Given the description of an element on the screen output the (x, y) to click on. 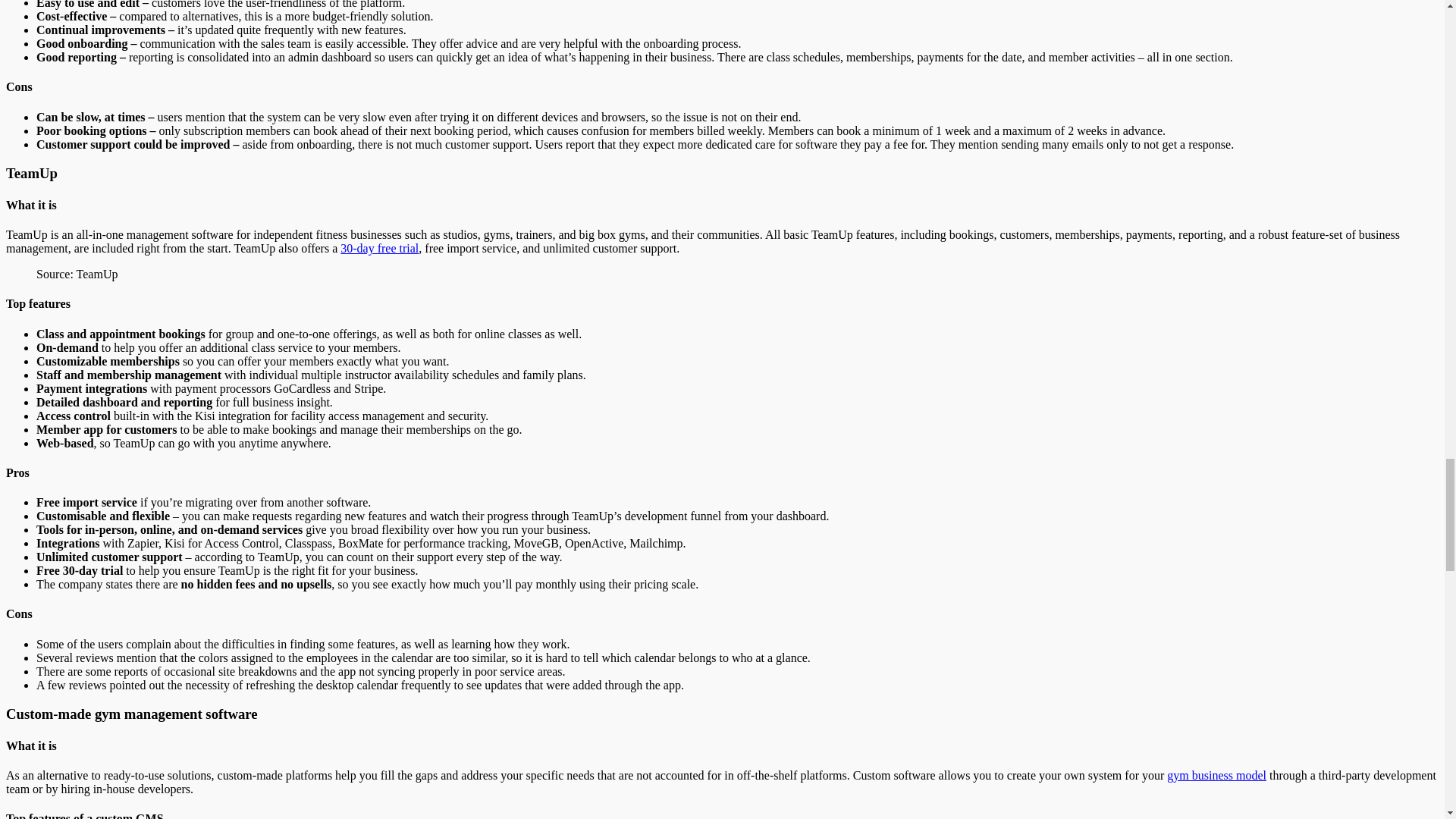
gym business model (1216, 775)
30-day free trial (379, 247)
